Given the description of an element on the screen output the (x, y) to click on. 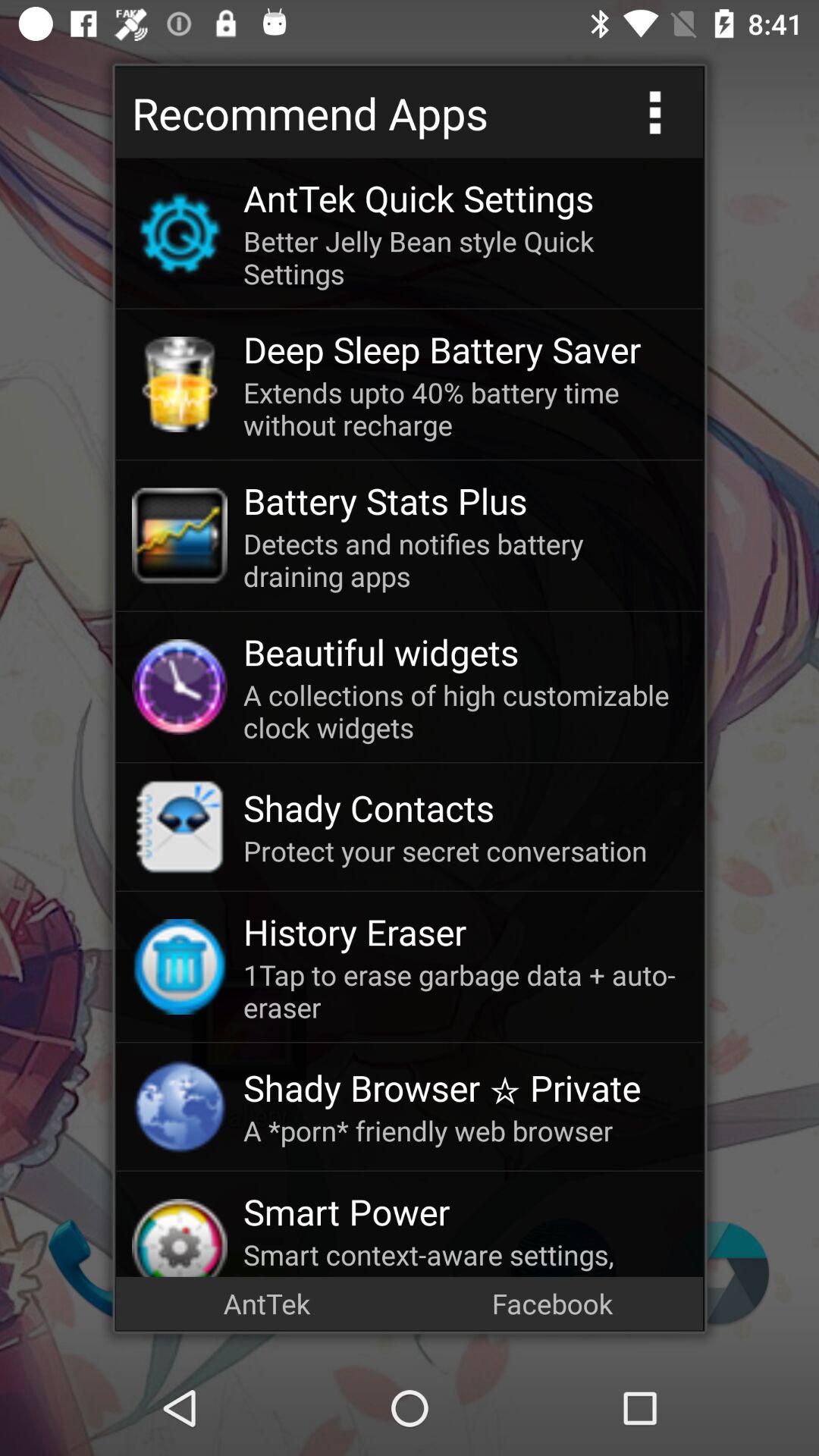
flip until the history eraser item (465, 931)
